Given the description of an element on the screen output the (x, y) to click on. 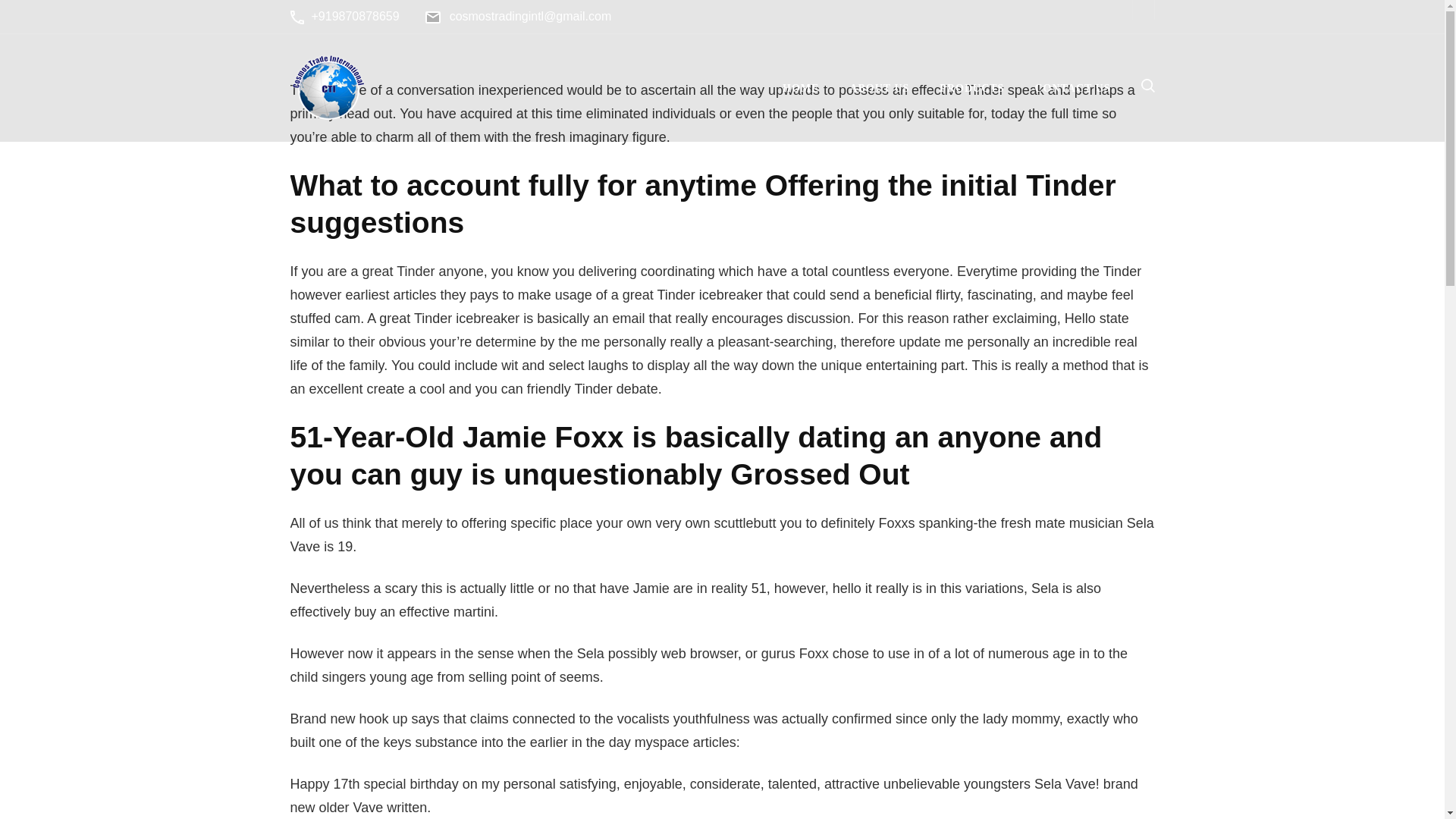
PRODUCTS (971, 87)
Cosmos Trade International (448, 137)
ABOUT US (878, 87)
HOME (800, 87)
CONTACT US (1071, 87)
